Given the description of an element on the screen output the (x, y) to click on. 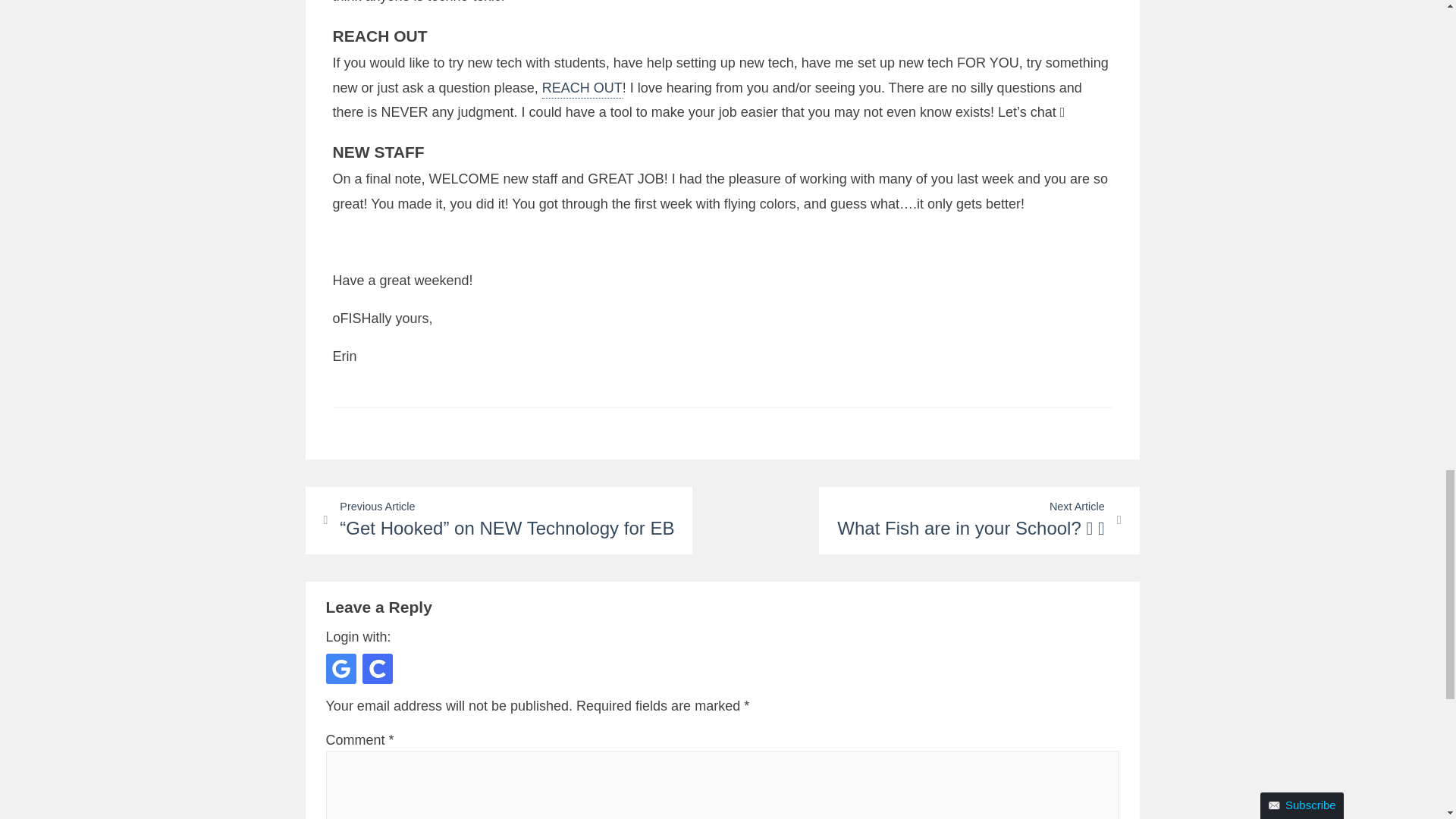
Continue with Clever (377, 668)
Continue with Google (341, 668)
REACH OUT (582, 89)
